Given the description of an element on the screen output the (x, y) to click on. 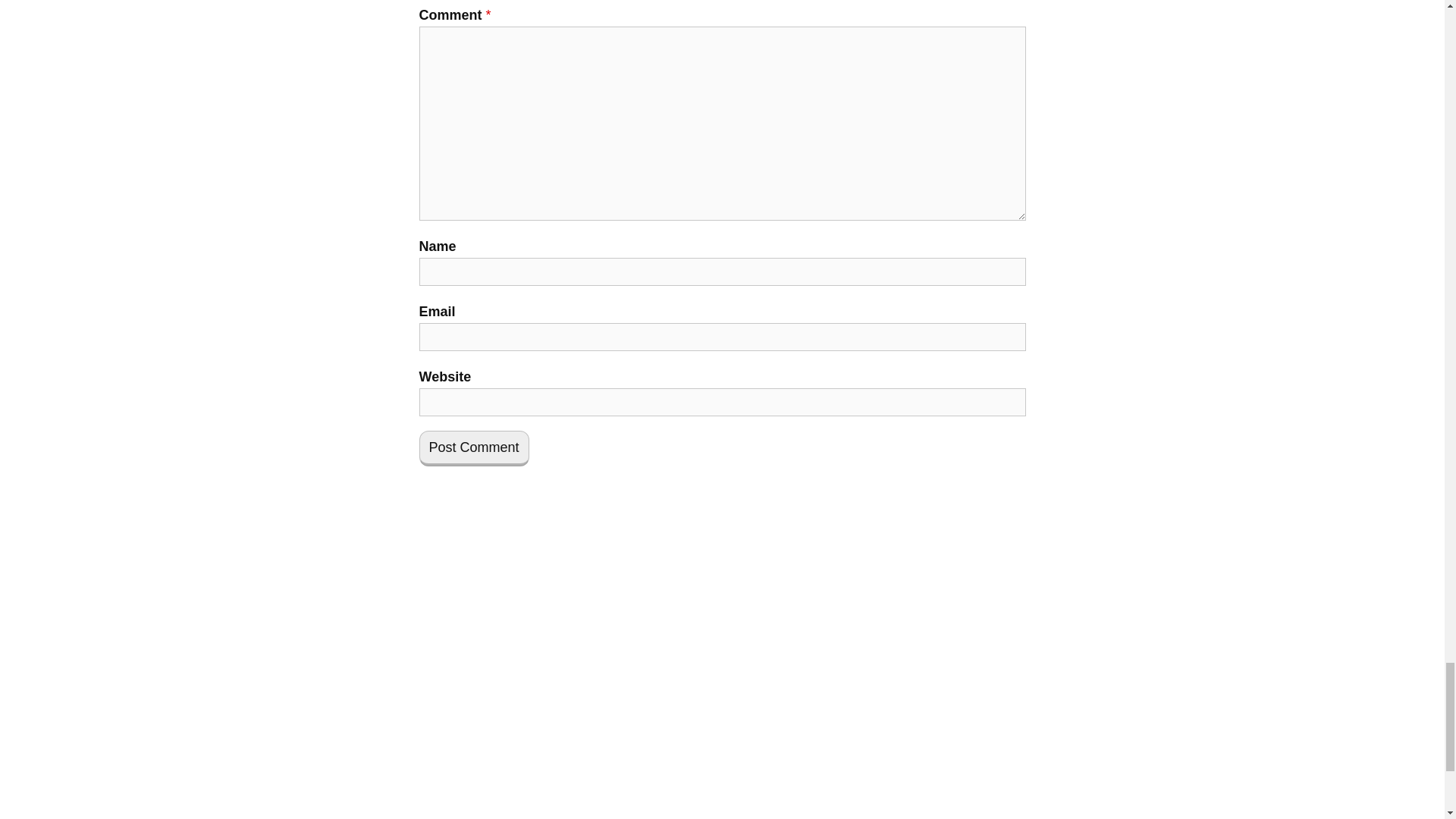
Post Comment (473, 448)
